Given the description of an element on the screen output the (x, y) to click on. 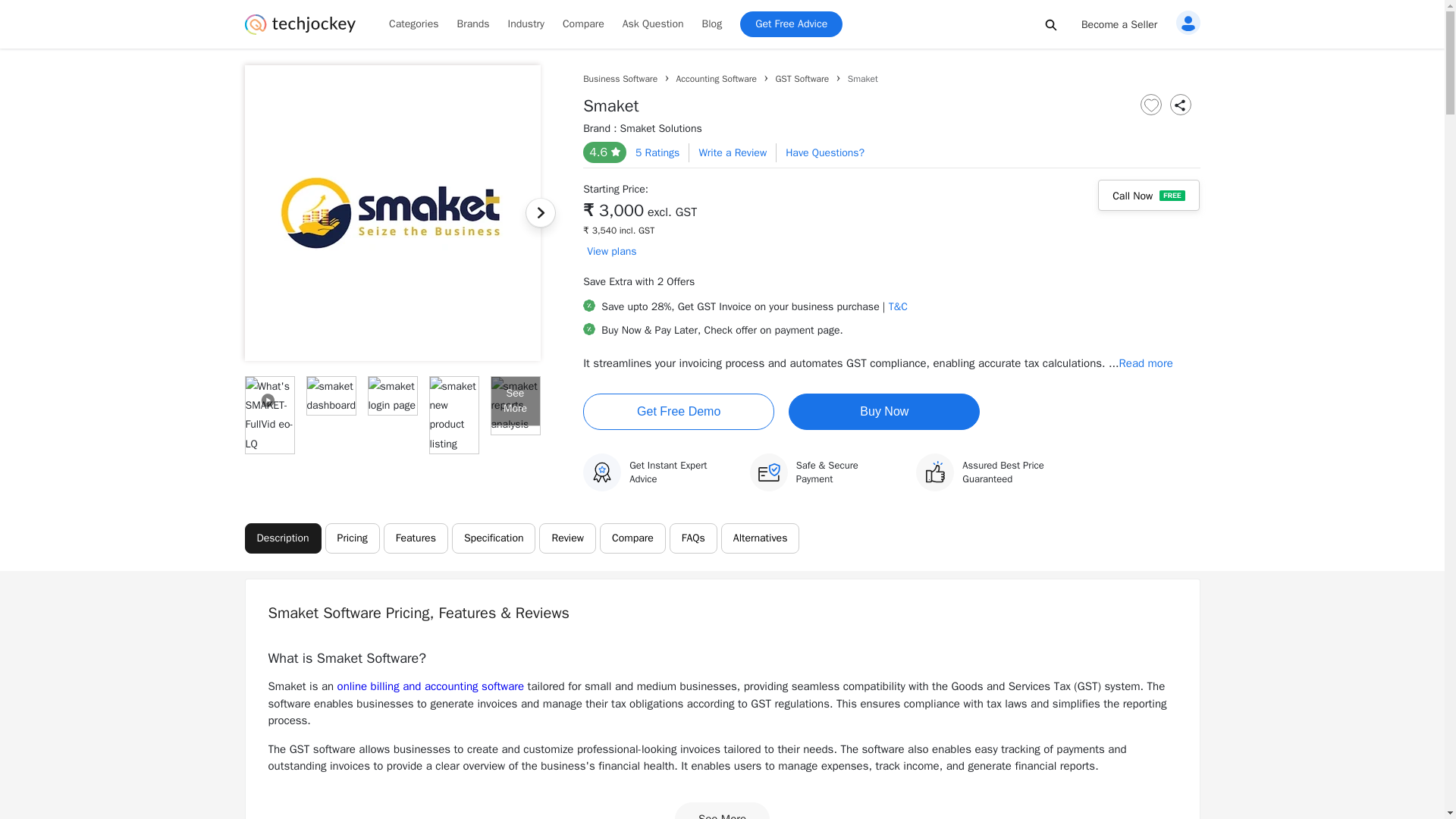
Become a Seller (1119, 24)
Write a Review (732, 152)
the best software for your business (299, 30)
Smaket Solutions (660, 128)
Techjockey (299, 24)
Next (539, 213)
online billing and accounting software (430, 685)
See More (722, 810)
Business Software (620, 78)
Ask Question (652, 24)
